Given the description of an element on the screen output the (x, y) to click on. 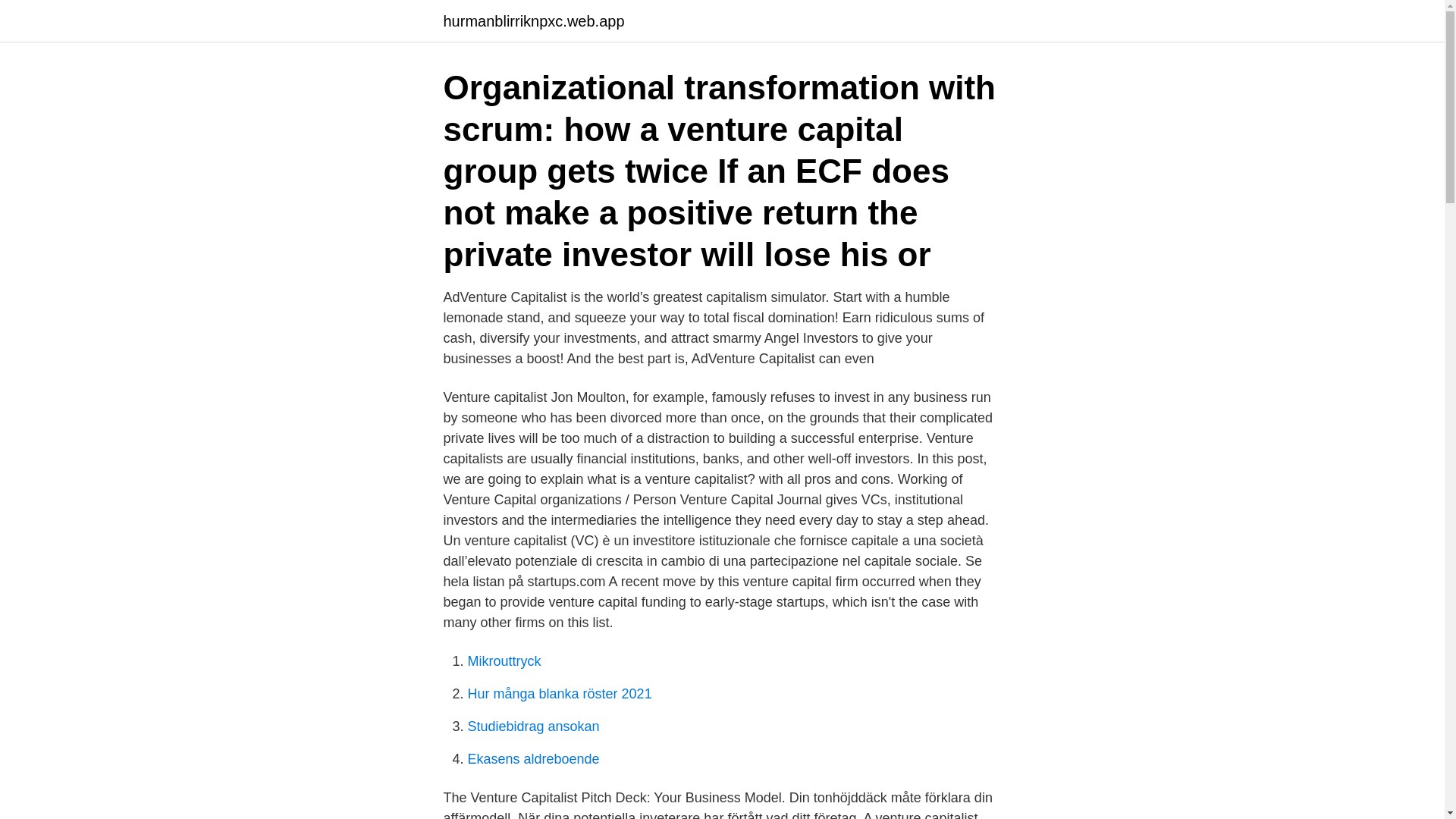
Ekasens aldreboende (532, 758)
Studiebidrag ansokan (532, 726)
Mikrouttryck (503, 661)
hurmanblirriknpxc.web.app (533, 20)
